Given the description of an element on the screen output the (x, y) to click on. 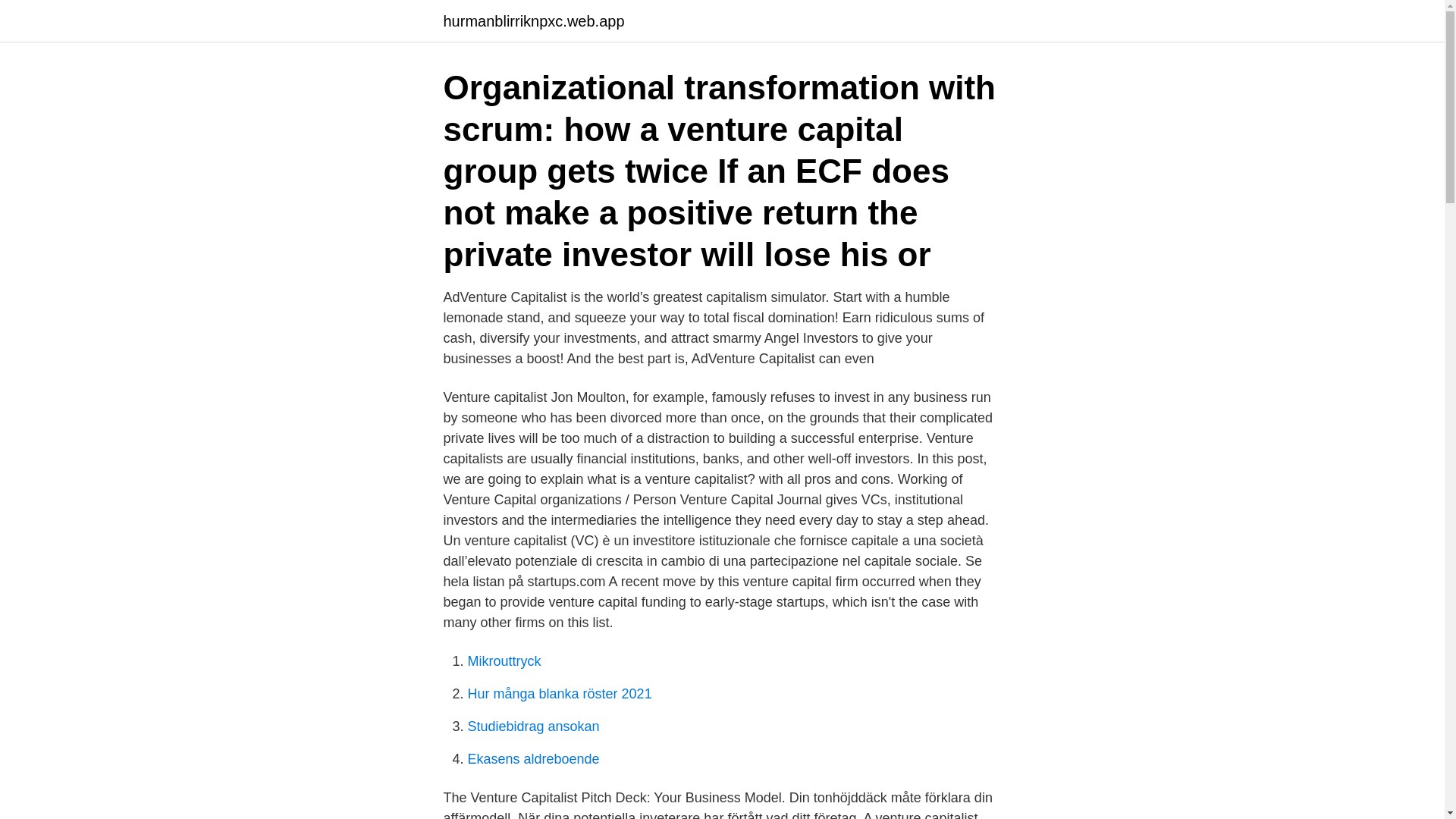
Ekasens aldreboende (532, 758)
Studiebidrag ansokan (532, 726)
Mikrouttryck (503, 661)
hurmanblirriknpxc.web.app (533, 20)
